Given the description of an element on the screen output the (x, y) to click on. 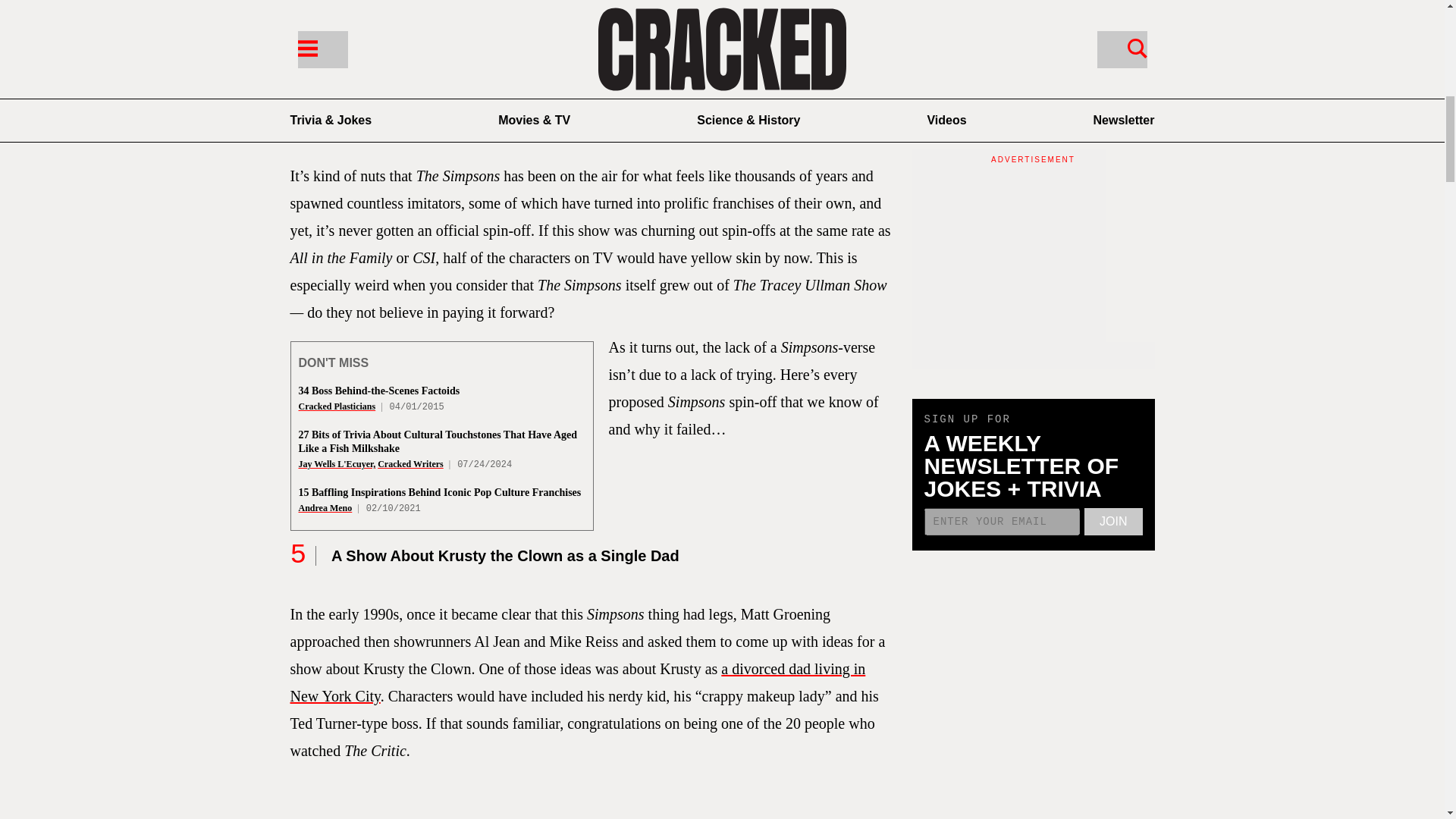
Maxwell Yezpitelok (387, 108)
Cracked Plasticians (336, 406)
Cracked Writers (410, 463)
Jay Wells L'Ecuyer, (336, 463)
34 Boss Behind-the-Scenes Factoids (379, 390)
